Given the description of an element on the screen output the (x, y) to click on. 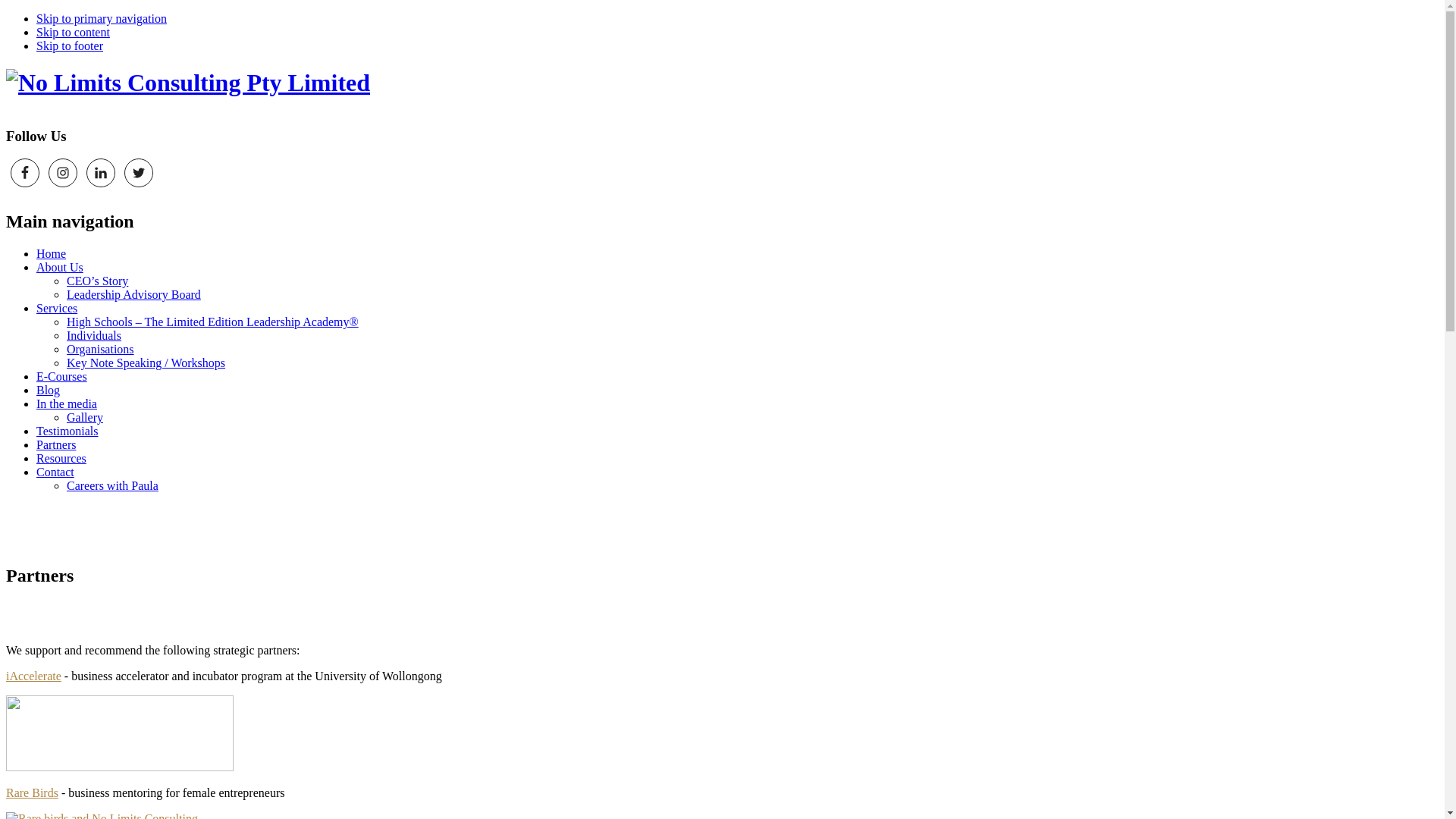
Organisations Element type: text (100, 348)
In the media Element type: text (66, 403)
iAccelerate Element type: text (33, 675)
Individuals Element type: text (93, 335)
Leadership Advisory Board Element type: text (133, 294)
Key Note Speaking / Workshops Element type: text (145, 362)
Skip to content Element type: text (72, 31)
Blog Element type: text (47, 389)
Skip to primary navigation Element type: text (101, 18)
Partners Element type: text (55, 444)
Contact Element type: text (55, 471)
Skip to footer Element type: text (69, 45)
E-Courses Element type: text (61, 376)
Careers with Paula Element type: text (112, 485)
No Limits Consulting Pty Limited Element type: hover (188, 82)
Services Element type: text (56, 307)
Rare Birds Element type: text (32, 792)
About Us Element type: text (59, 266)
Home Element type: text (50, 253)
Resources Element type: text (61, 457)
Gallery Element type: text (84, 417)
Testimonials Element type: text (67, 430)
